Given the description of an element on the screen output the (x, y) to click on. 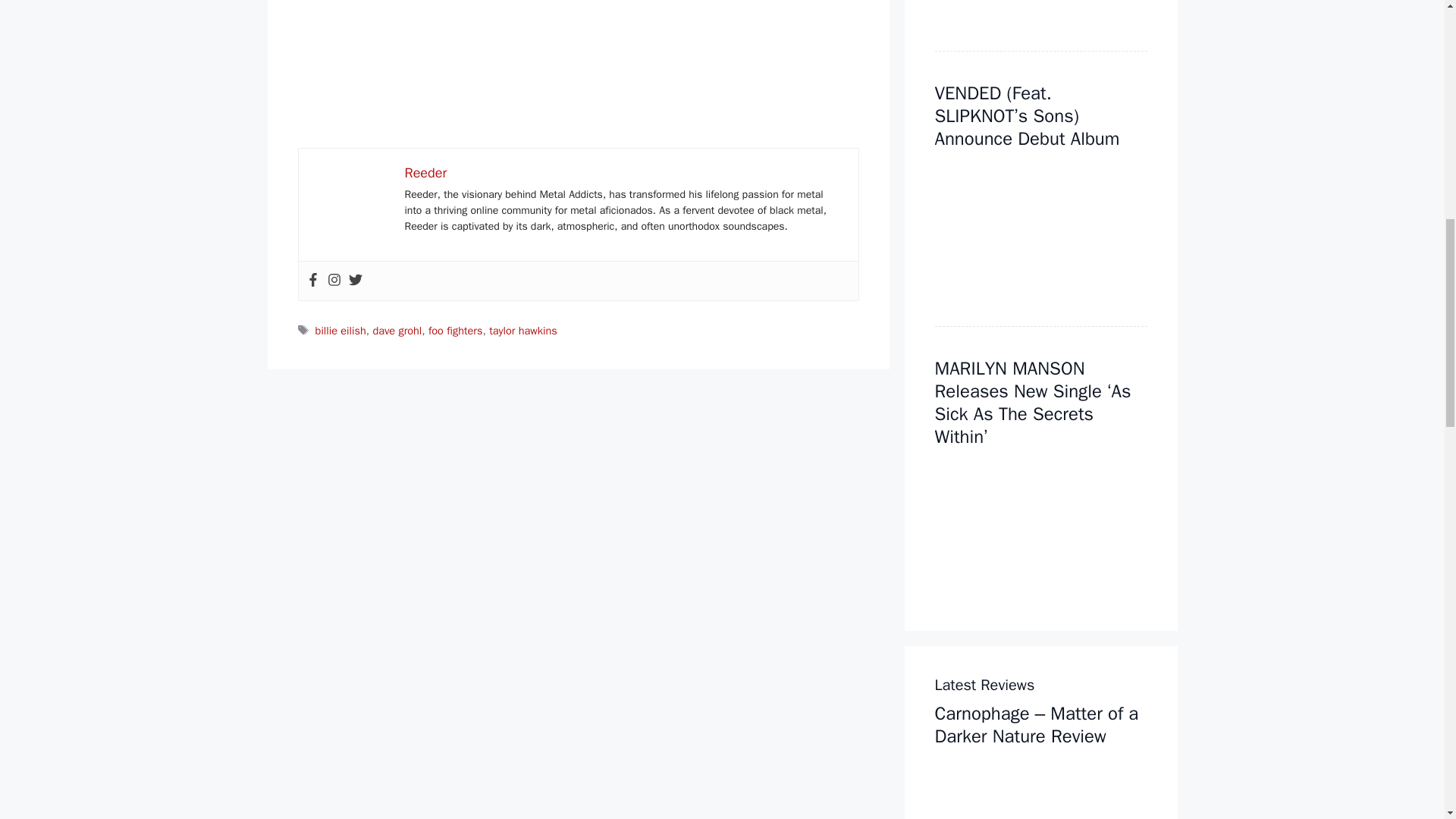
foo fighters (455, 330)
dave grohl (397, 330)
Reeder (425, 172)
taylor hawkins (523, 330)
billie eilish (340, 330)
